Given the description of an element on the screen output the (x, y) to click on. 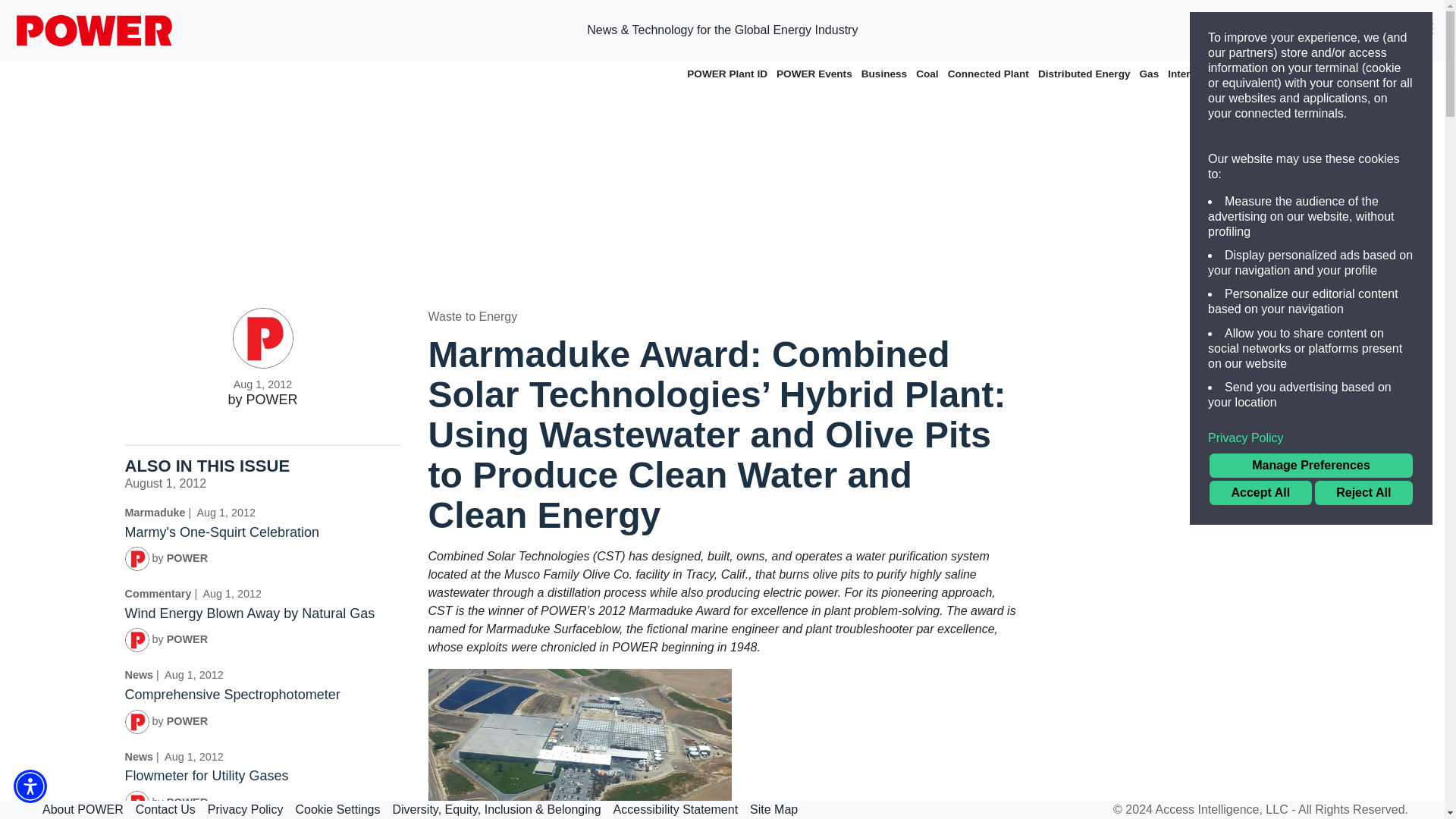
Open Navigation (1425, 30)
Manage Preferences (1310, 465)
Log In (1379, 30)
Accept All (1260, 492)
Reject All (1363, 492)
Privacy Policy (1310, 437)
Accessibility Menu (29, 786)
Sign up (1303, 30)
Intercom live chat (1411, 785)
3rd party ad content (1181, 534)
